Given the description of an element on the screen output the (x, y) to click on. 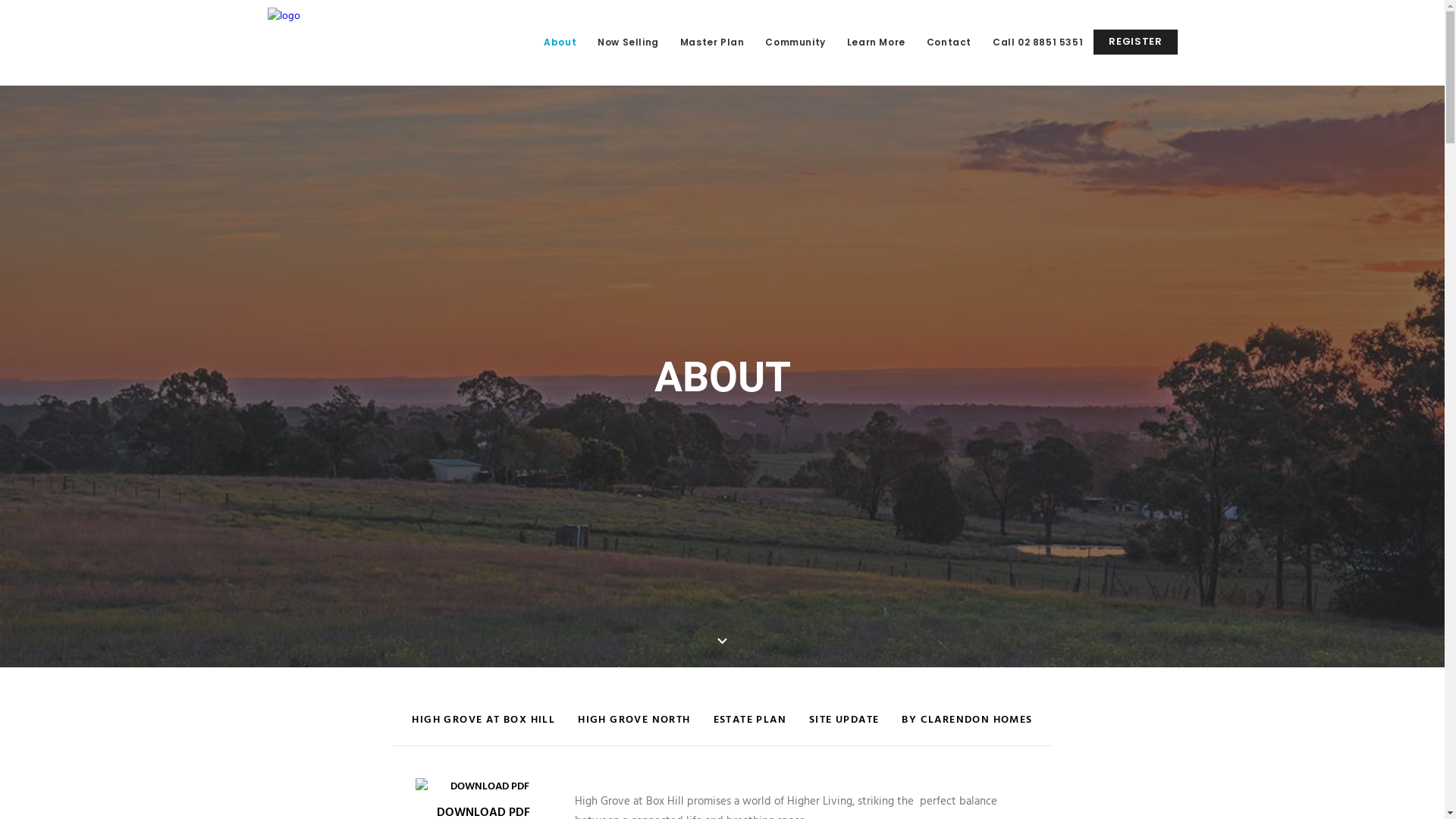
BY CLARENDON HOMES Element type: text (966, 728)
Call 02 8851 5351 Element type: text (1037, 42)
Contact Element type: text (949, 42)
About Element type: text (559, 42)
Community Element type: text (794, 42)
A Element type: text (722, 641)
REGISTER Element type: text (1134, 41)
Learn More Element type: text (876, 42)
HIGH GROVE NORTH Element type: text (633, 728)
Now Selling Element type: text (627, 42)
ESTATE PLAN Element type: text (749, 728)
SITE UPDATE Element type: text (843, 728)
Master Plan Element type: text (712, 42)
HIGH GROVE AT BOX HILL Element type: text (483, 728)
